Given the description of an element on the screen output the (x, y) to click on. 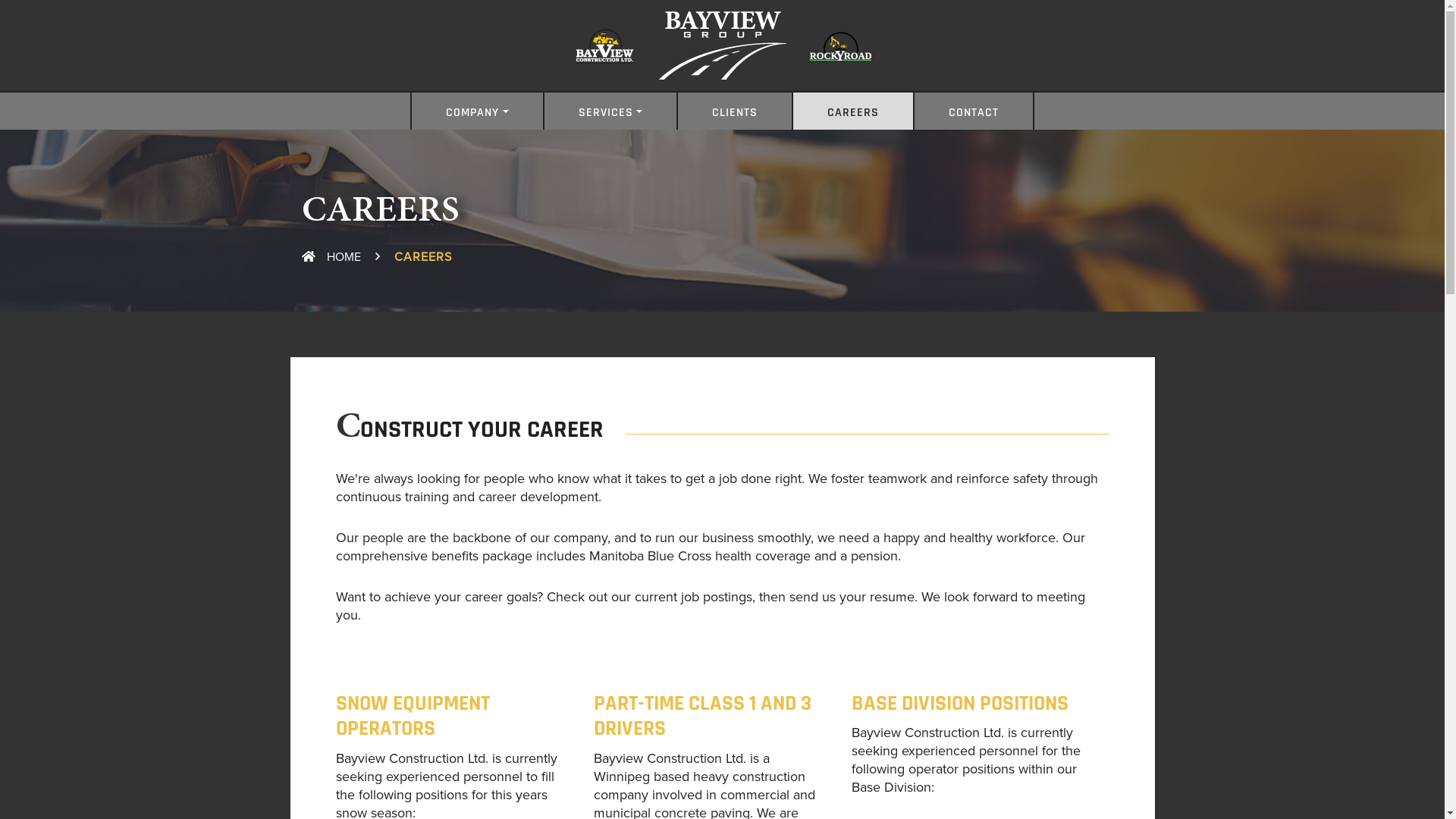
CAREERS Element type: text (853, 110)
HOME Element type: text (330, 256)
CONTACT Element type: text (973, 110)
CLIENTS Element type: text (734, 110)
COMPANY Element type: text (476, 110)
SERVICES Element type: text (610, 110)
